Given the description of an element on the screen output the (x, y) to click on. 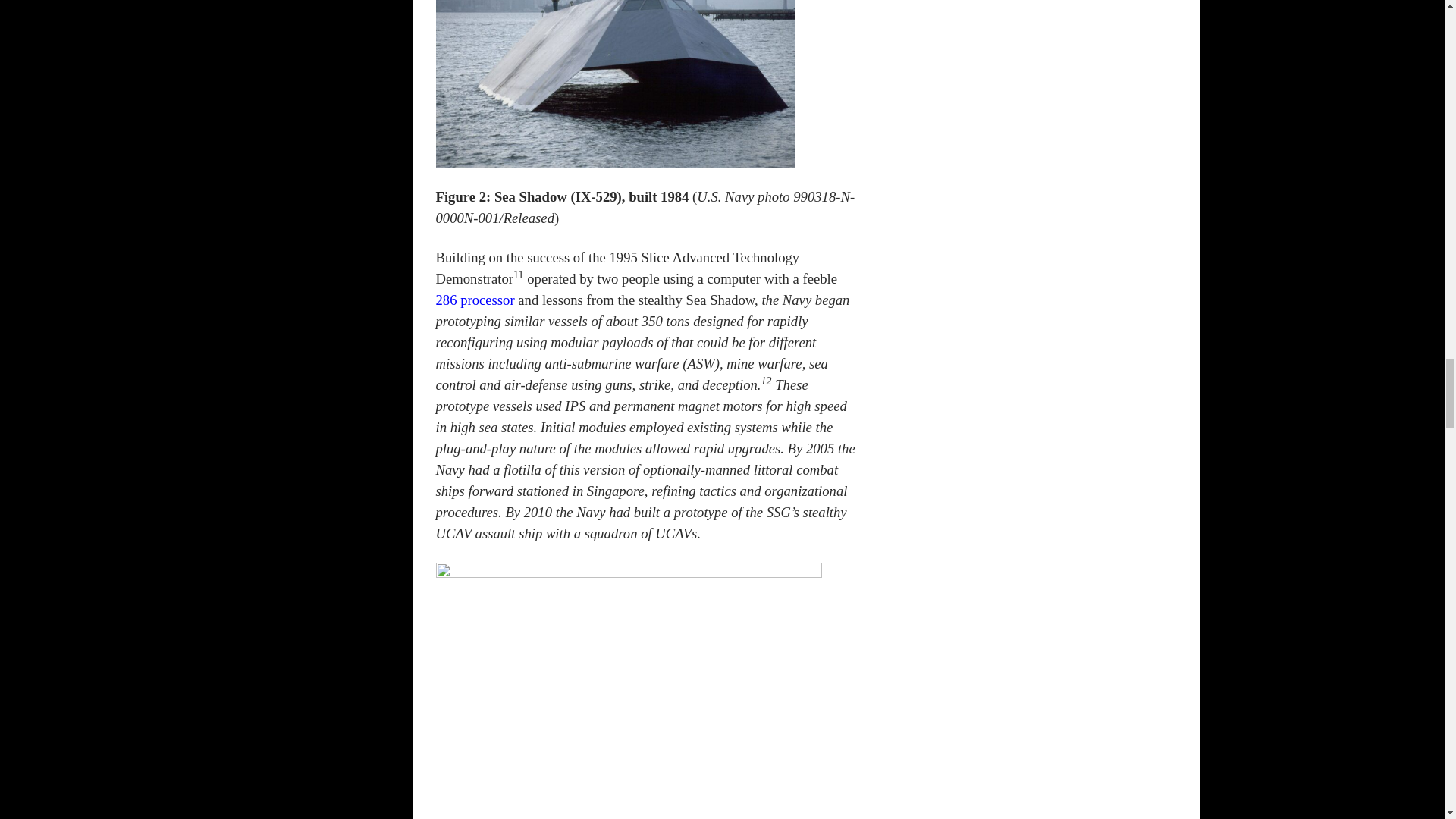
286 processor (474, 299)
